Given the description of an element on the screen output the (x, y) to click on. 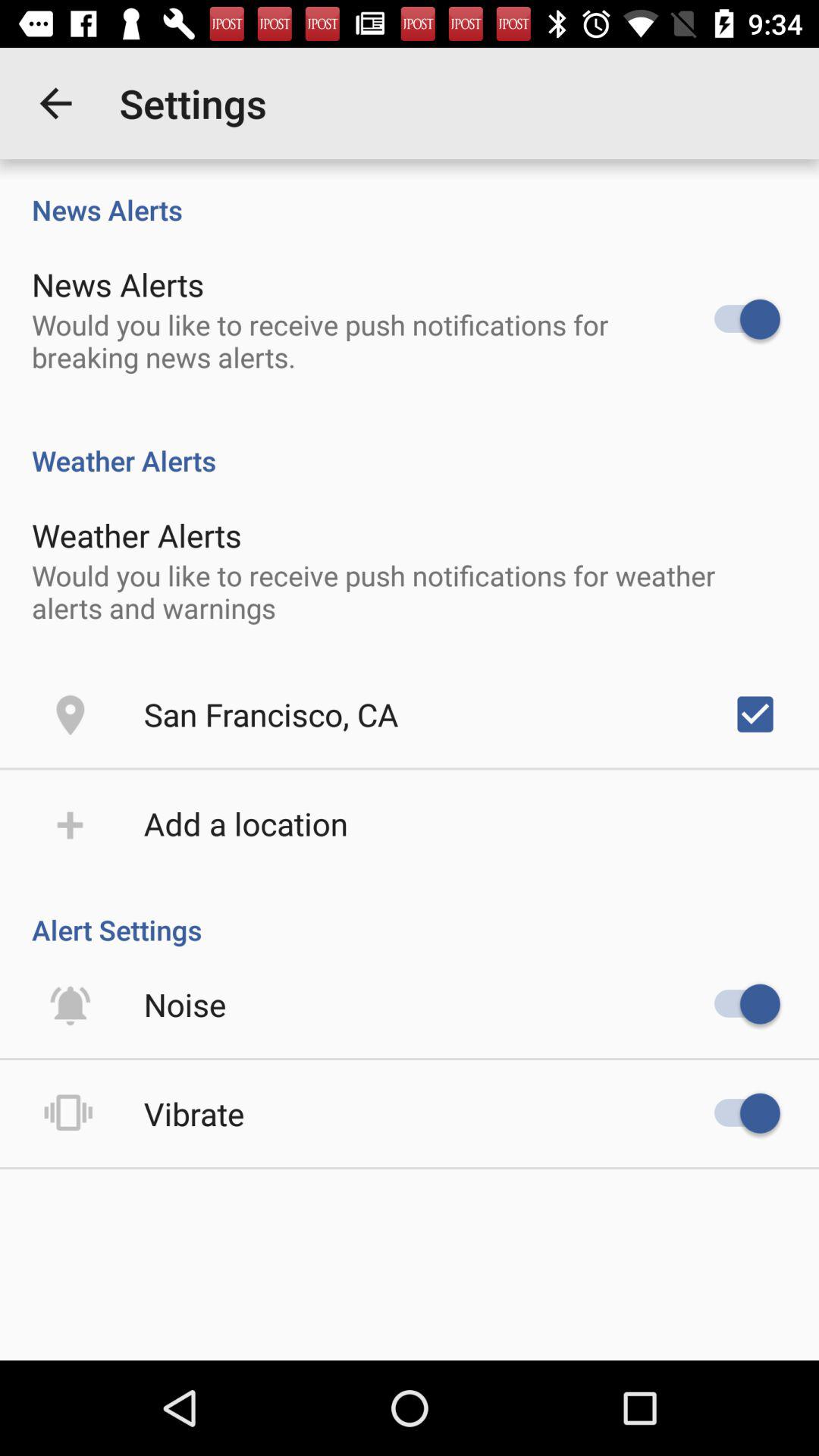
jump to the vibrate icon (193, 1113)
